Given the description of an element on the screen output the (x, y) to click on. 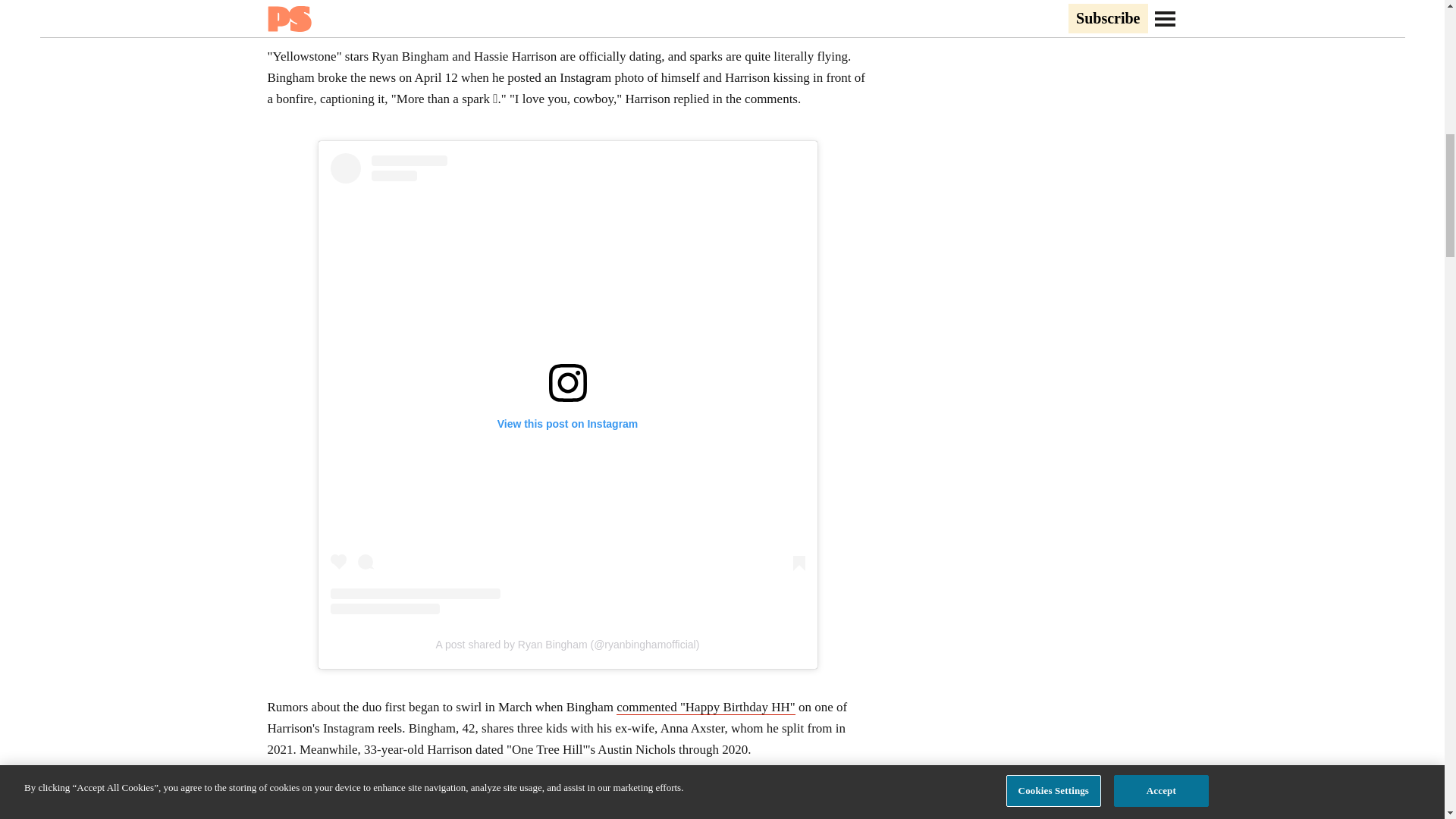
commented "Happy Birthday HH" (704, 707)
